Given the description of an element on the screen output the (x, y) to click on. 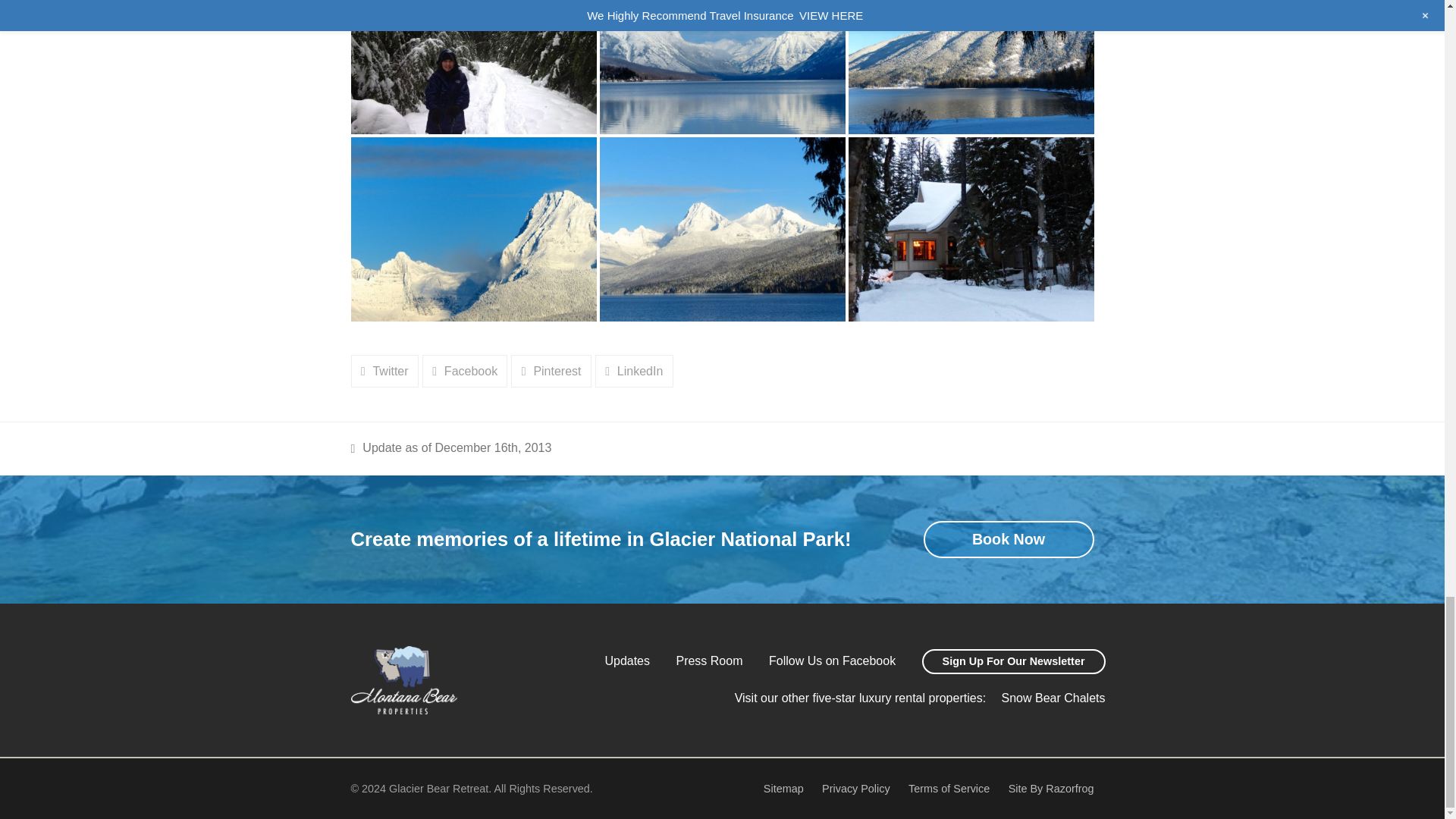
Montana Bear Properties Logo Color Reversed (403, 680)
